Given the description of an element on the screen output the (x, y) to click on. 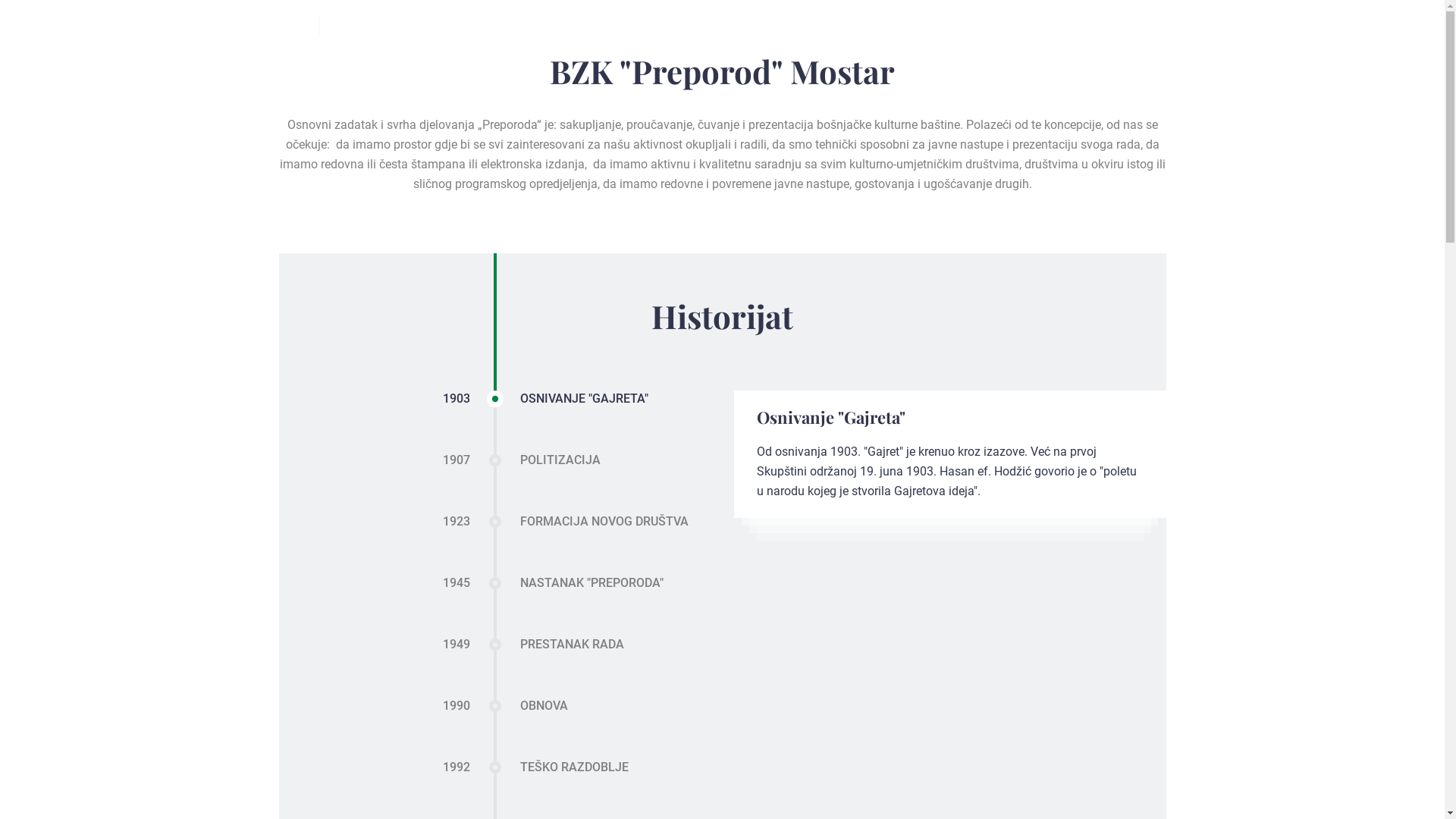
O NAMA Element type: text (787, 26)
true Element type: text (296, 26)
AKTUELNOSTI Element type: text (874, 26)
KONTAKT Element type: text (1100, 26)
